Given the description of an element on the screen output the (x, y) to click on. 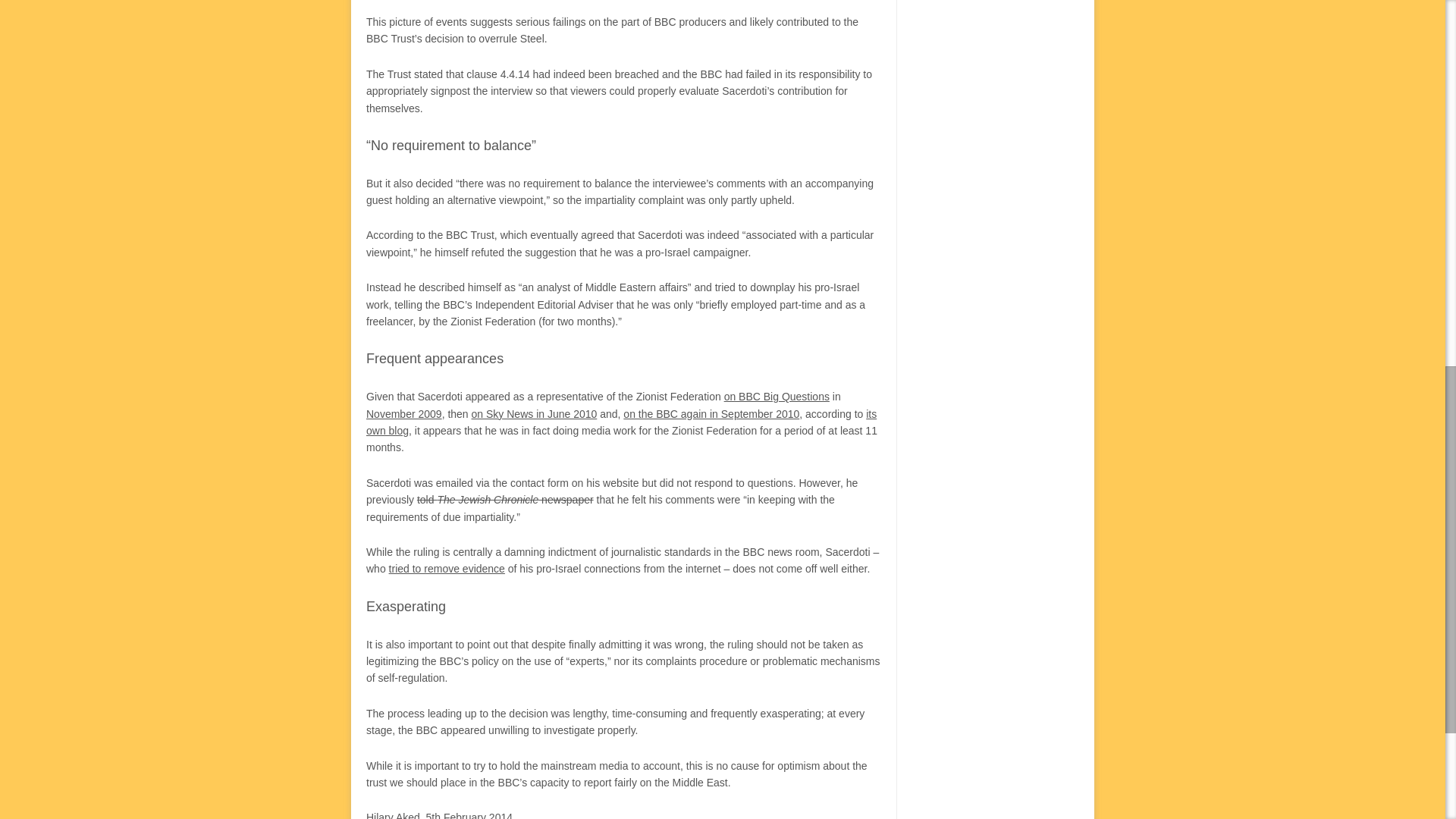
on the BBC again in September 2010 (711, 413)
told The Jewish Chronicle newspaper (505, 499)
November 2009 (404, 413)
on BBC Big Questions (776, 396)
tried to remove evidence (446, 568)
on Sky News in June 2010 (533, 413)
its own blog (621, 421)
